Given the description of an element on the screen output the (x, y) to click on. 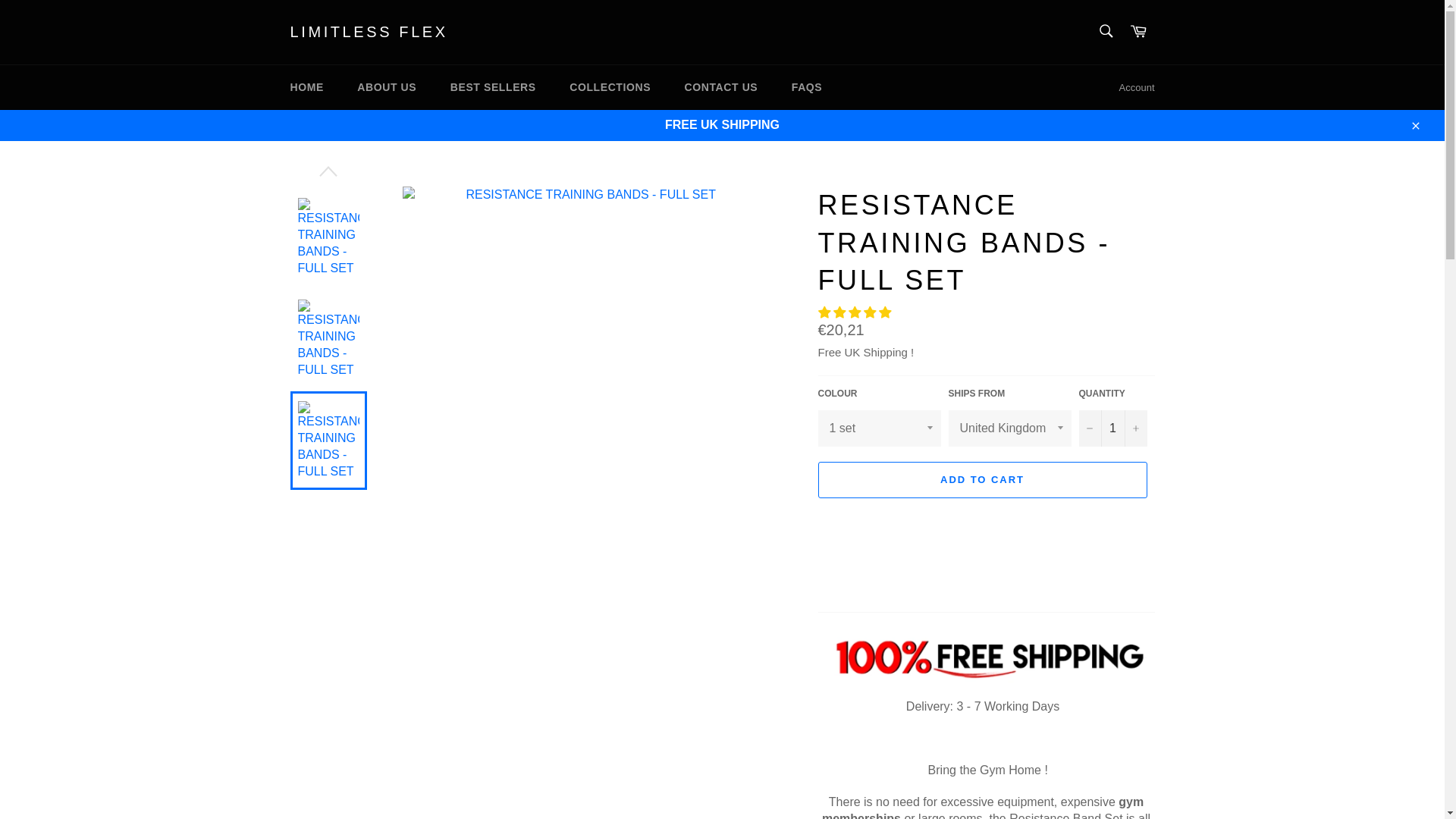
CONTACT US (721, 87)
Search (1104, 30)
ABOUT US (386, 87)
Close (1414, 124)
1 (1112, 428)
LIMITLESS FLEX (367, 32)
COLLECTIONS (609, 87)
Cart (1138, 32)
FAQS (807, 87)
BEST SELLERS (493, 87)
Account (1136, 87)
HOME (306, 87)
